Given the description of an element on the screen output the (x, y) to click on. 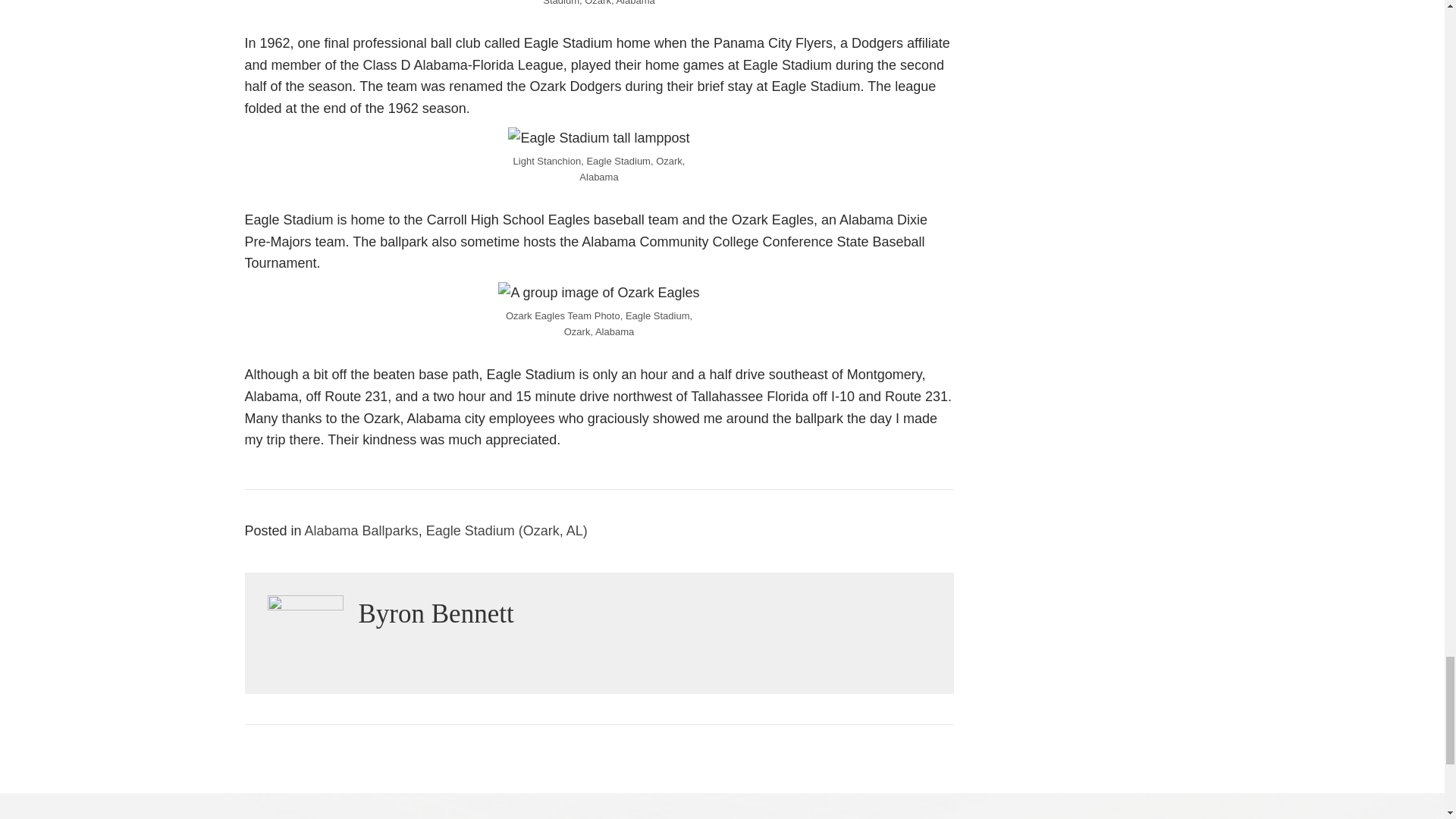
Alabama Ballparks (361, 530)
